Given the description of an element on the screen output the (x, y) to click on. 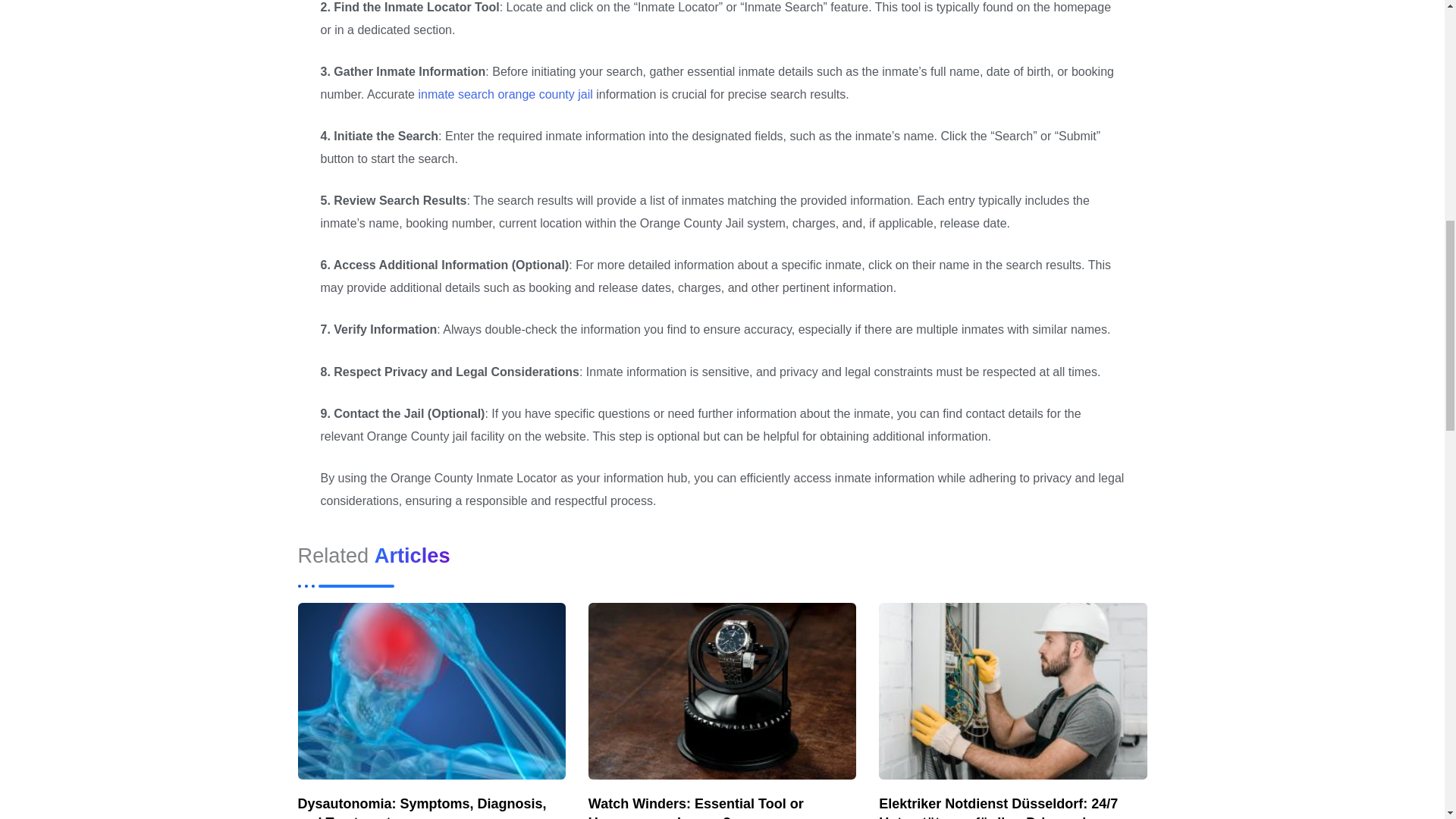
Dysautonomia: Symptoms, Diagnosis, and Treatment (421, 807)
Watch Winders: Essential Tool or Unnecessary Luxury? (695, 807)
inmate search orange county jail (504, 93)
